Given the description of an element on the screen output the (x, y) to click on. 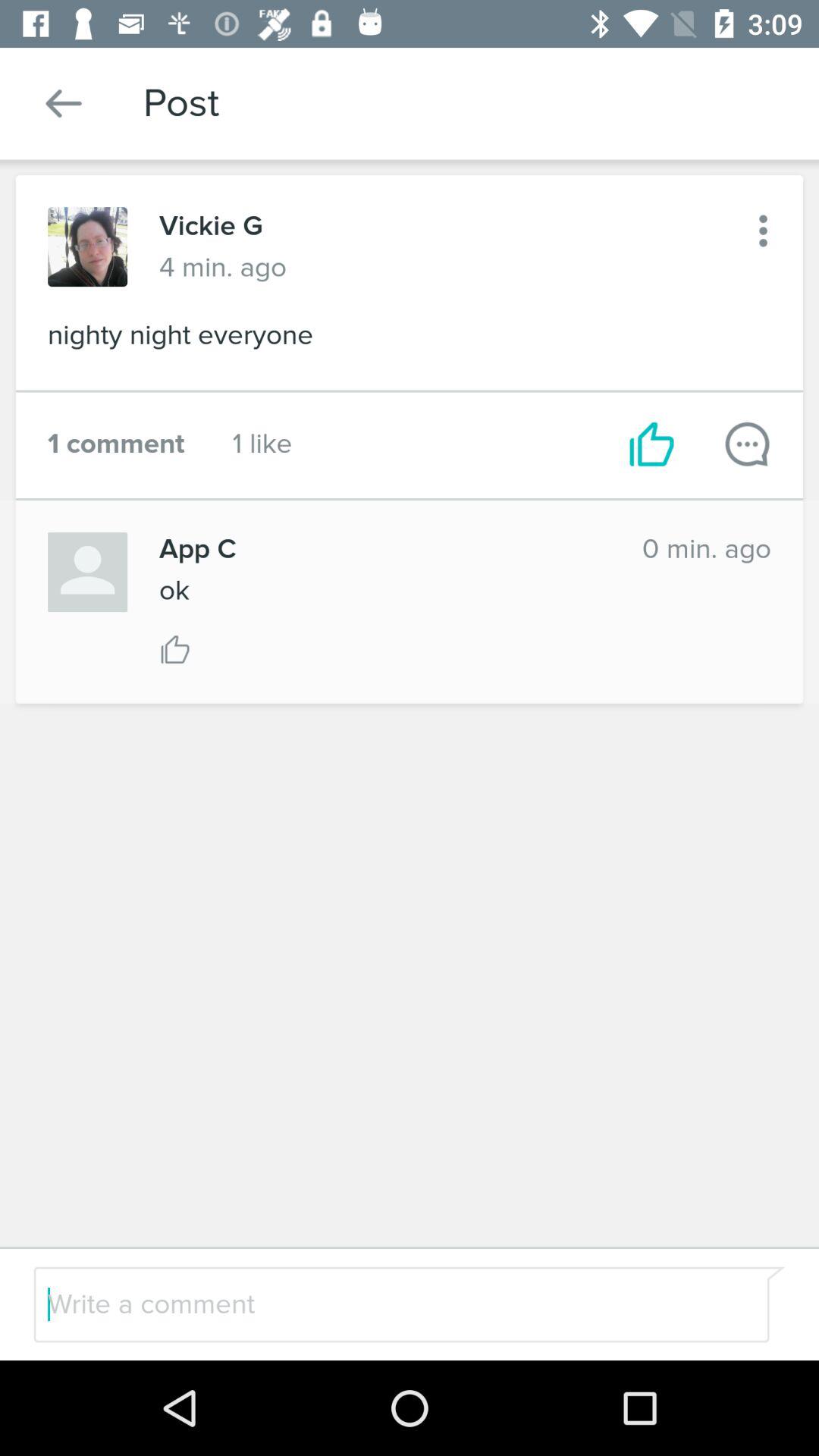
tap ok item (174, 590)
